Given the description of an element on the screen output the (x, y) to click on. 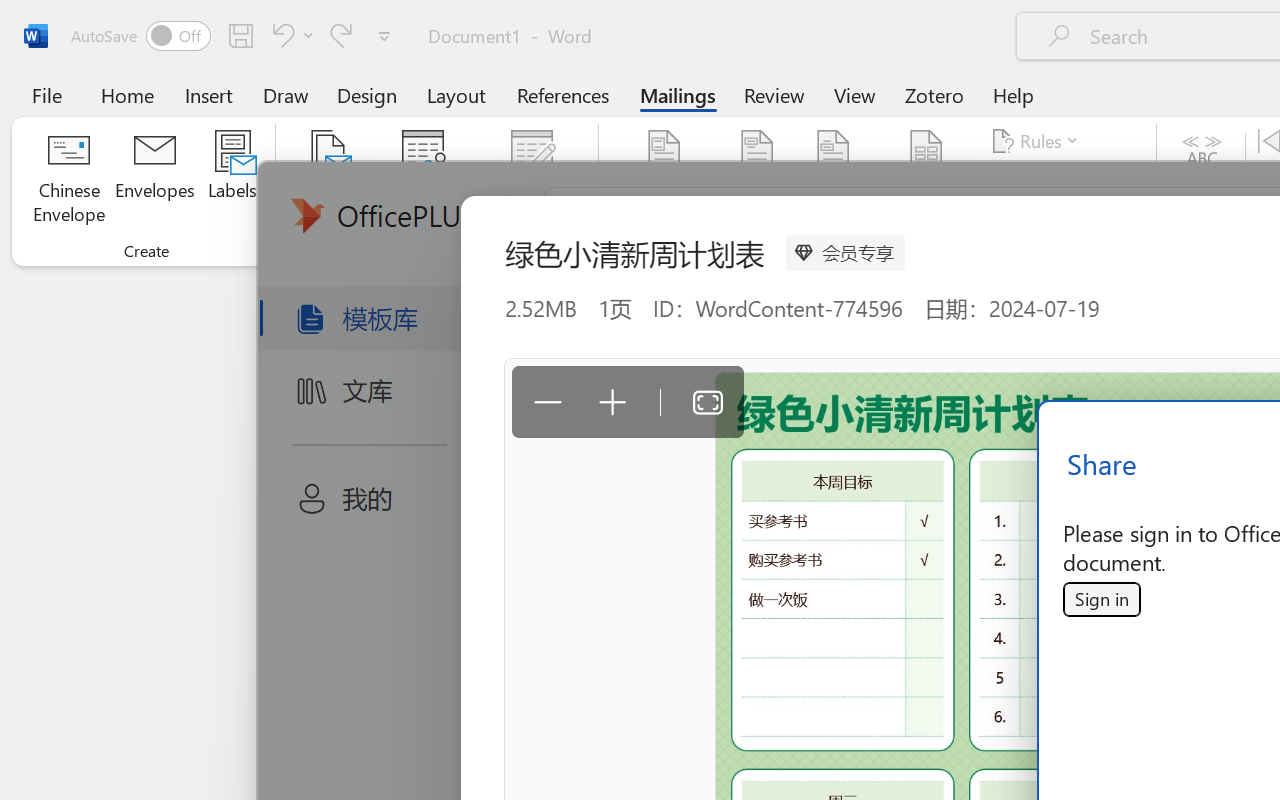
Undo Apply Quick Style Set (280, 35)
Preview Results (1202, 179)
Undo Apply Quick Style Set (290, 35)
Redo Apply Quick Style (341, 35)
